Given the description of an element on the screen output the (x, y) to click on. 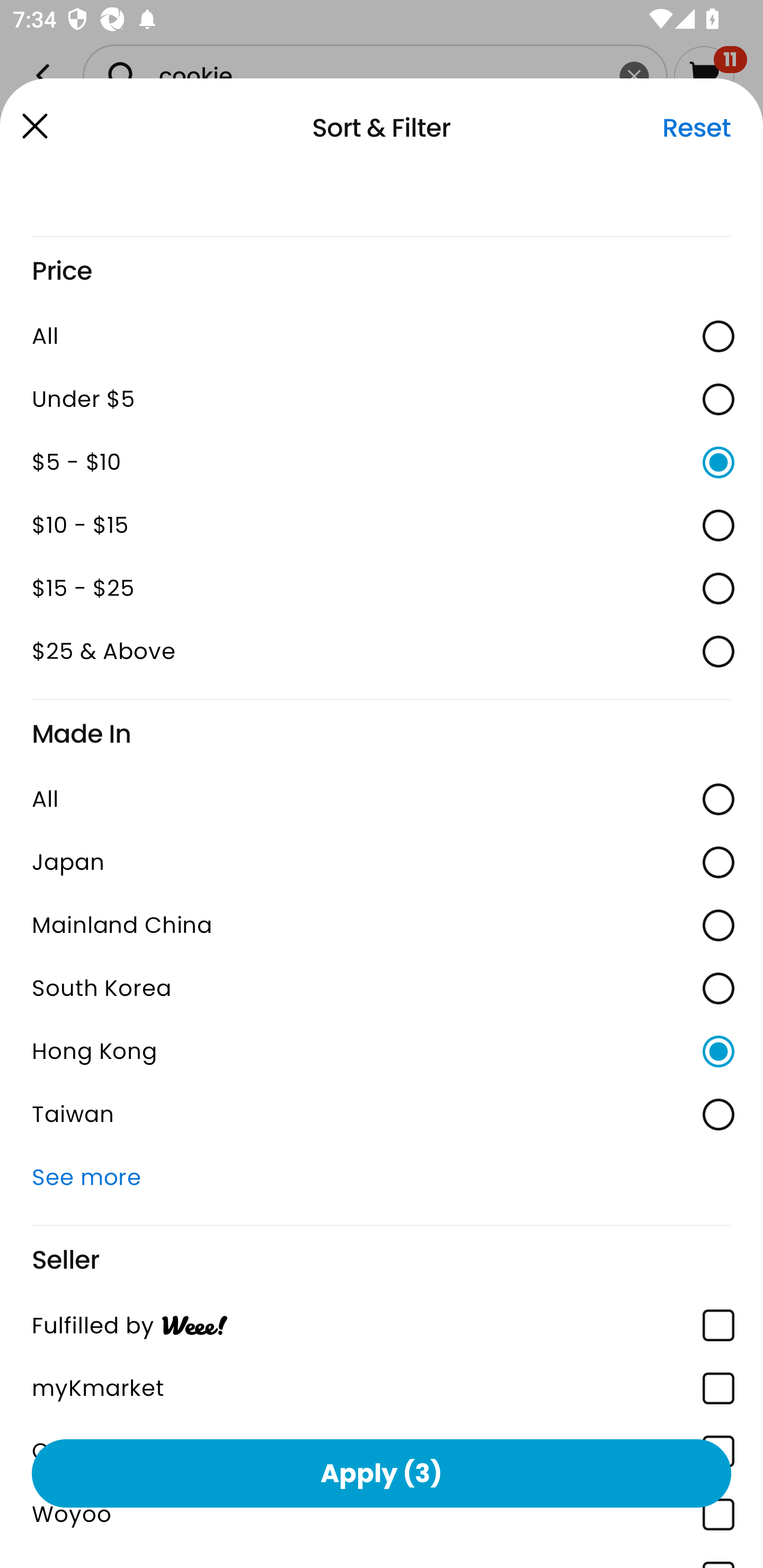
Reset (696, 127)
See more (381, 1177)
Apply (3) (381, 1472)
